Given the description of an element on the screen output the (x, y) to click on. 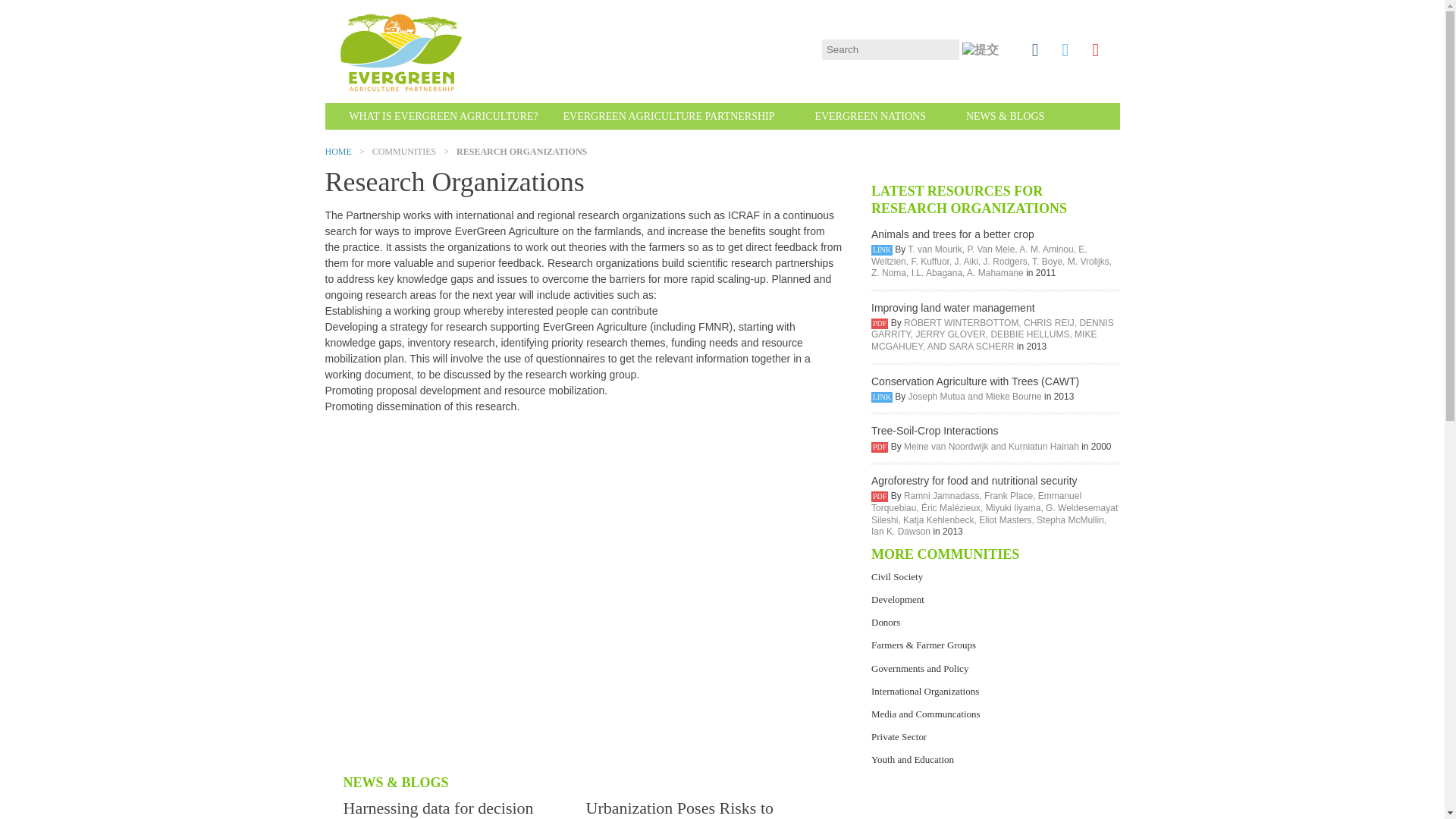
Agroforestry for food and nutritional security (994, 480)
Animals and trees for a better crop (994, 211)
Donors (884, 622)
Skip to content (757, 110)
Tree-Soil-Crop Interactions (994, 430)
Skip to content (757, 110)
International Organizations (924, 691)
CONTACT US (472, 143)
Media and Communcations (924, 714)
Improving land water management (994, 307)
Development (897, 599)
RESOURCES (370, 143)
Governments and Policy (919, 667)
HOME (337, 151)
EVERGREEN AGRICULTURE PARTNERSHIP (669, 116)
